Given the description of an element on the screen output the (x, y) to click on. 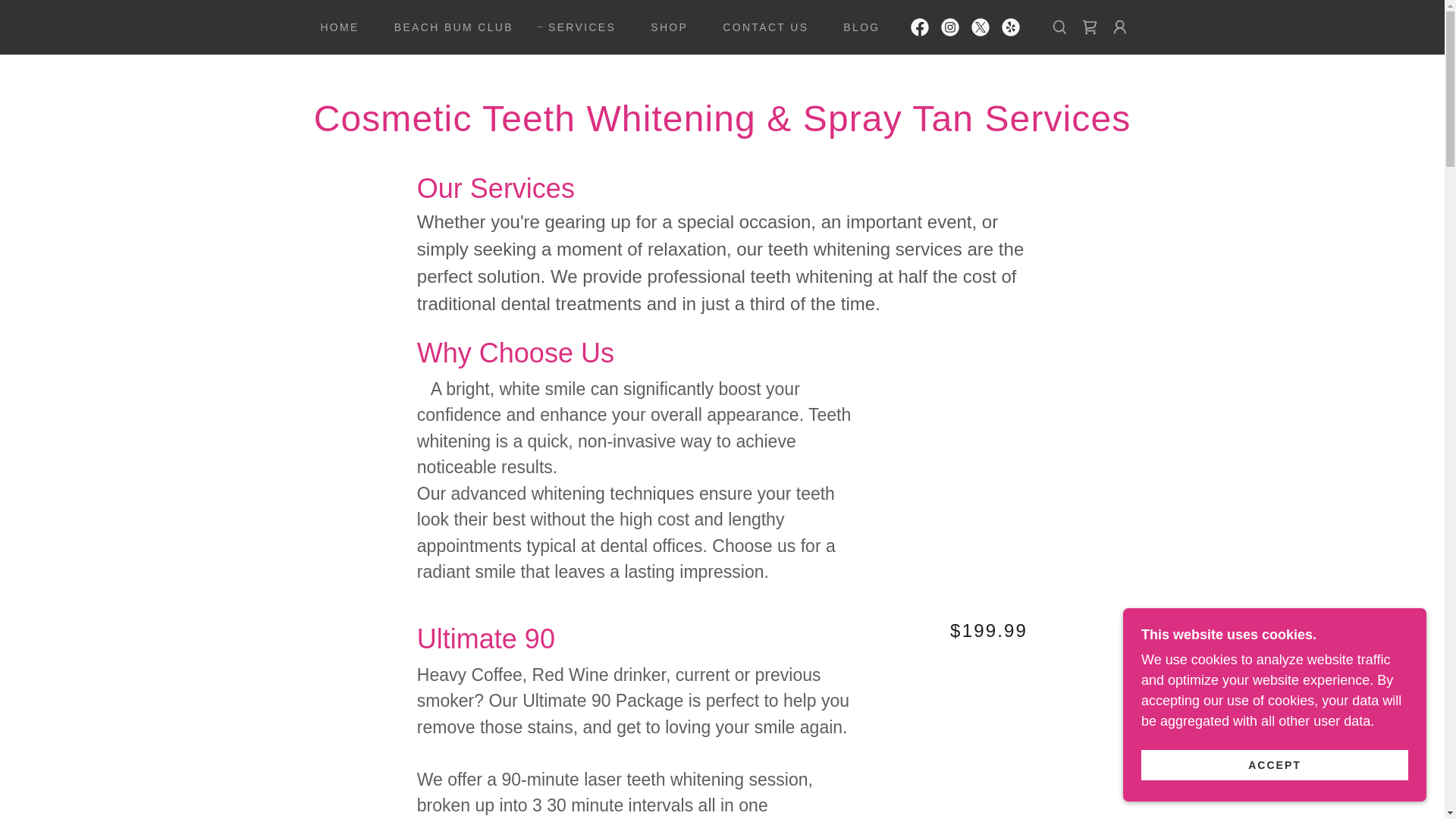
BEACH BUM CLUB (448, 26)
SERVICES (576, 27)
SHOP (663, 26)
HOME (333, 26)
BLOG (855, 26)
CONTACT US (759, 26)
